Given the description of an element on the screen output the (x, y) to click on. 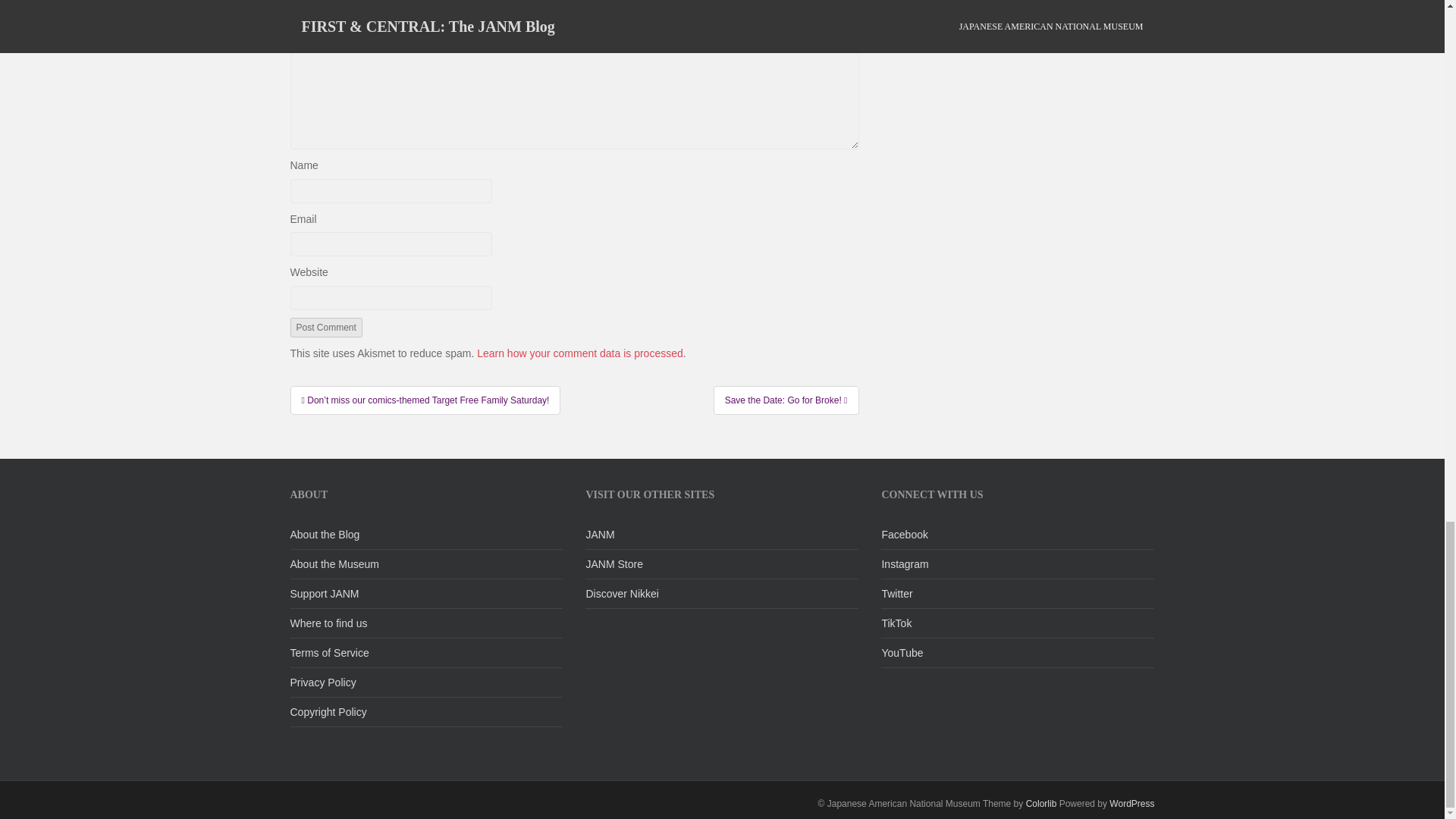
Learn how your comment data is processed (579, 353)
Post Comment (325, 327)
Save the Date: Go for Broke! (786, 399)
Post Comment (325, 327)
